Given the description of an element on the screen output the (x, y) to click on. 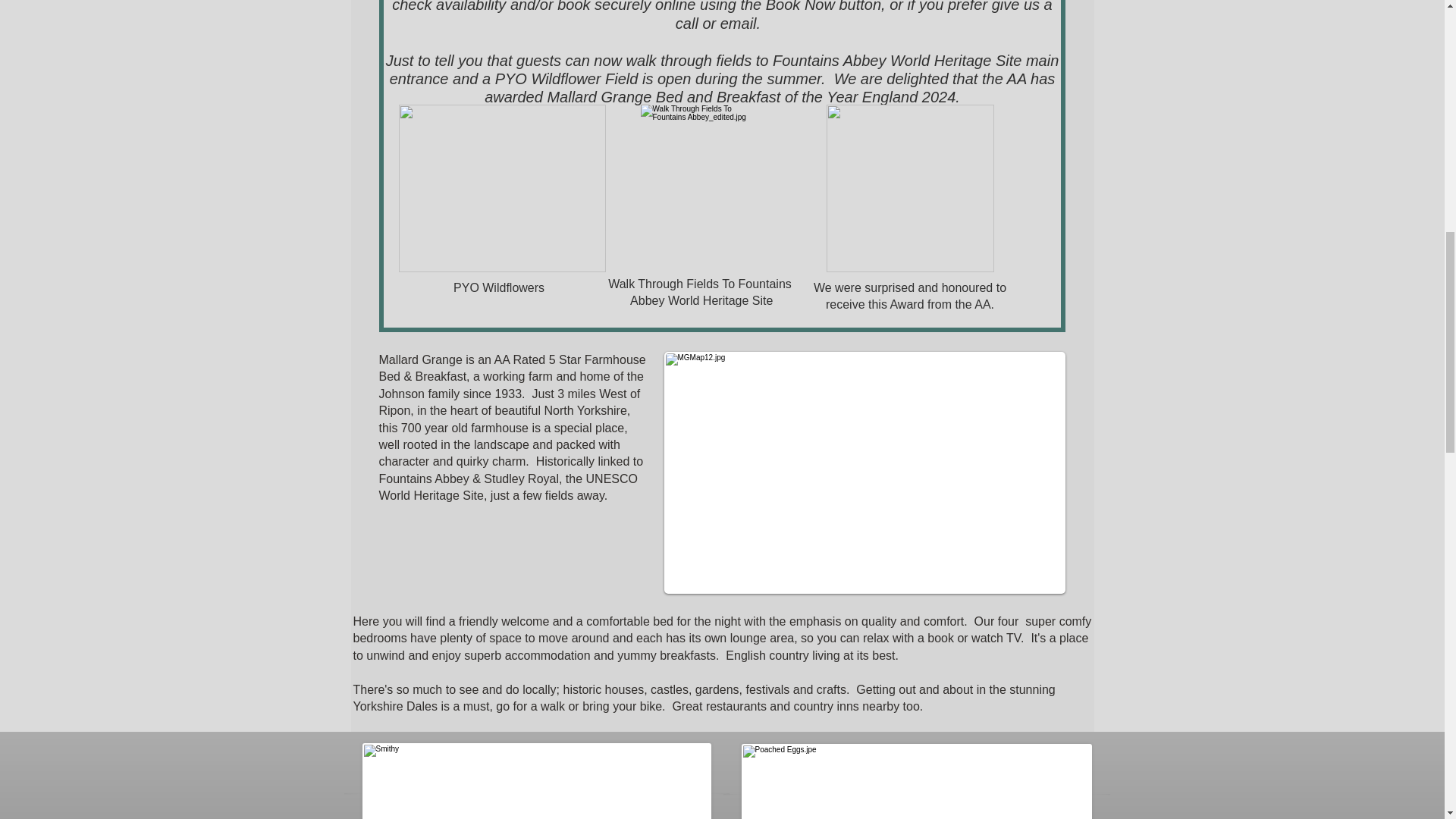
AA-BnB-of-the-Year-England-2024.png (910, 187)
